Given the description of an element on the screen output the (x, y) to click on. 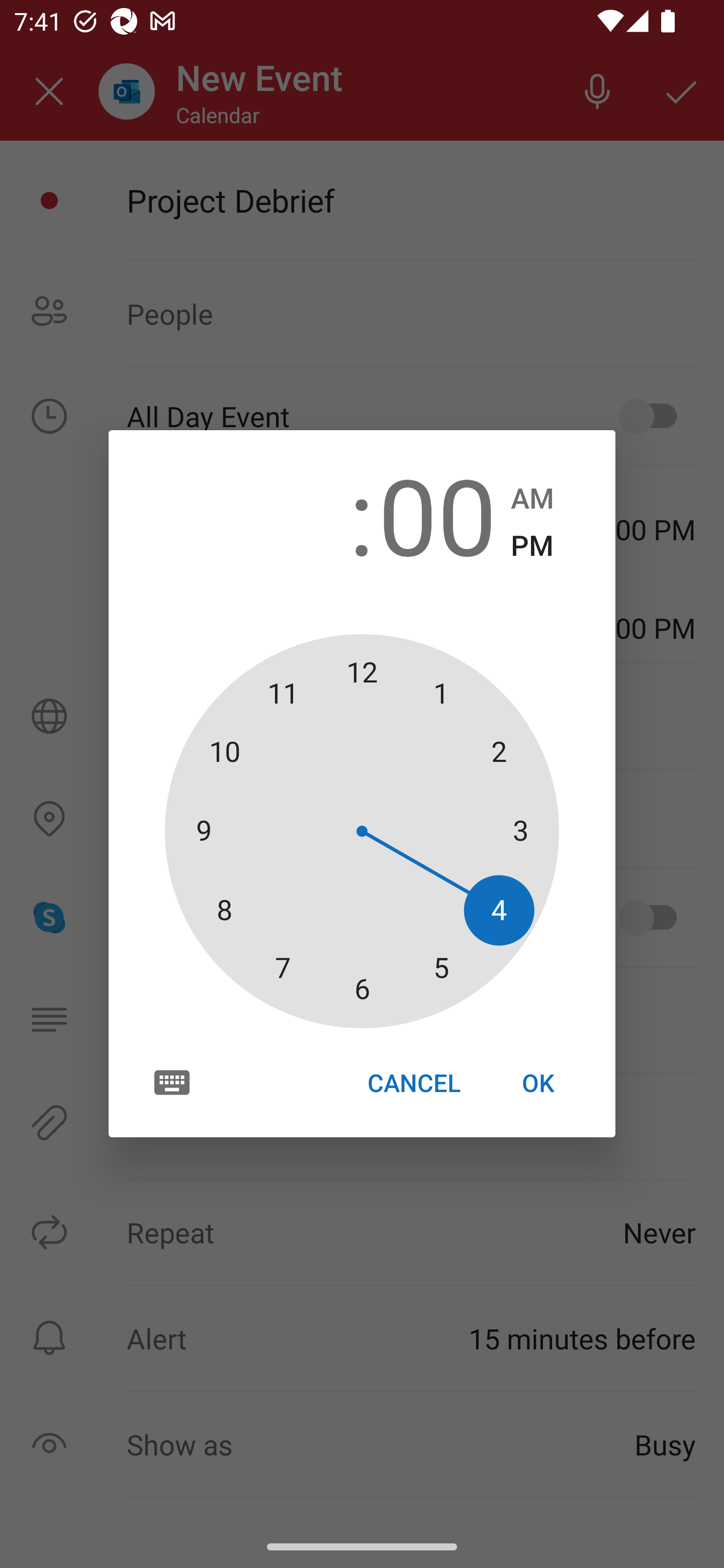
4 (285, 513)
00 (436, 513)
AM (532, 498)
PM (532, 546)
CANCEL (413, 1082)
OK (537, 1082)
Switch to text input mode for the time input. (171, 1081)
